Given the description of an element on the screen output the (x, y) to click on. 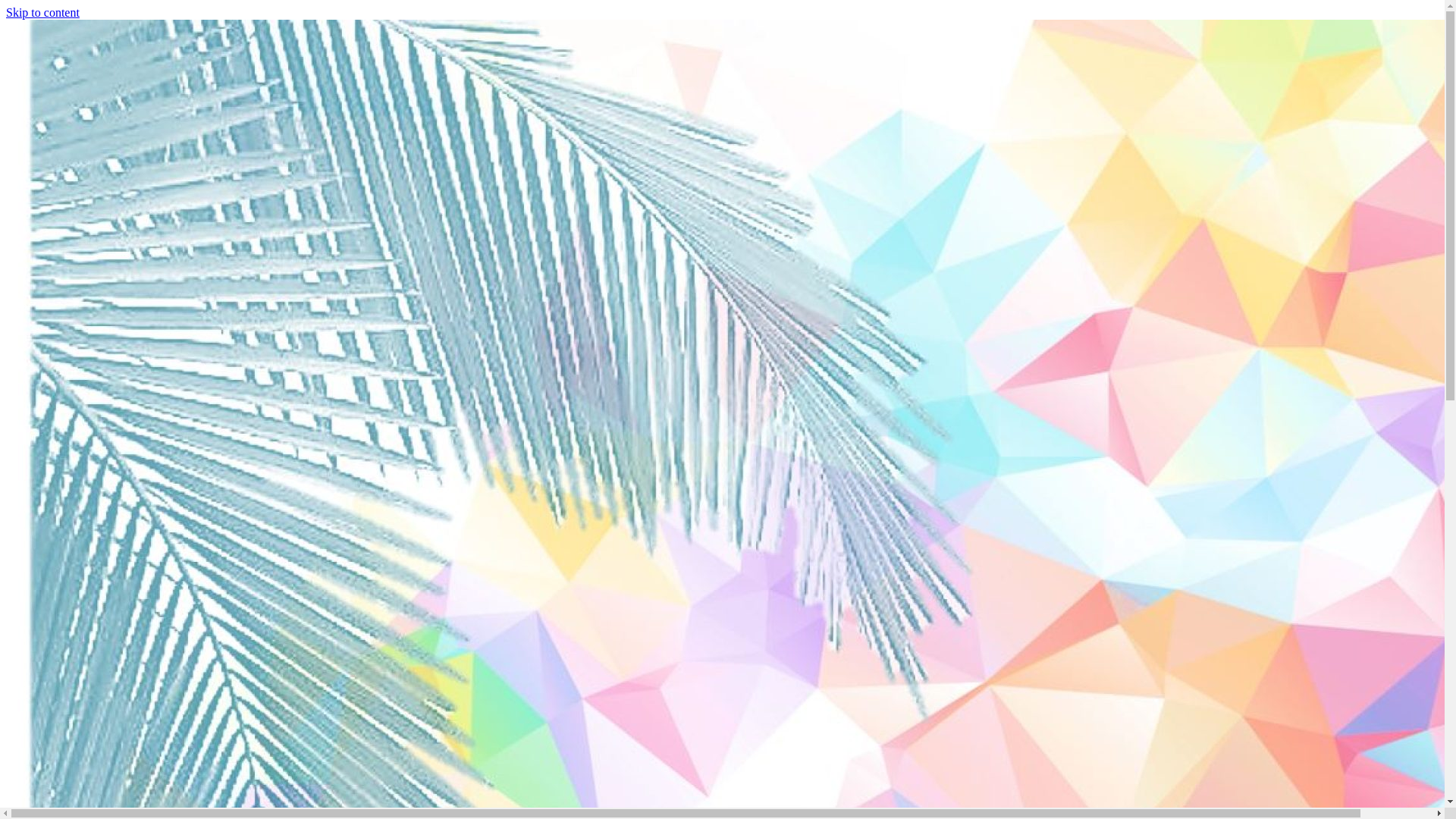
Skip to content Element type: text (42, 12)
